Given the description of an element on the screen output the (x, y) to click on. 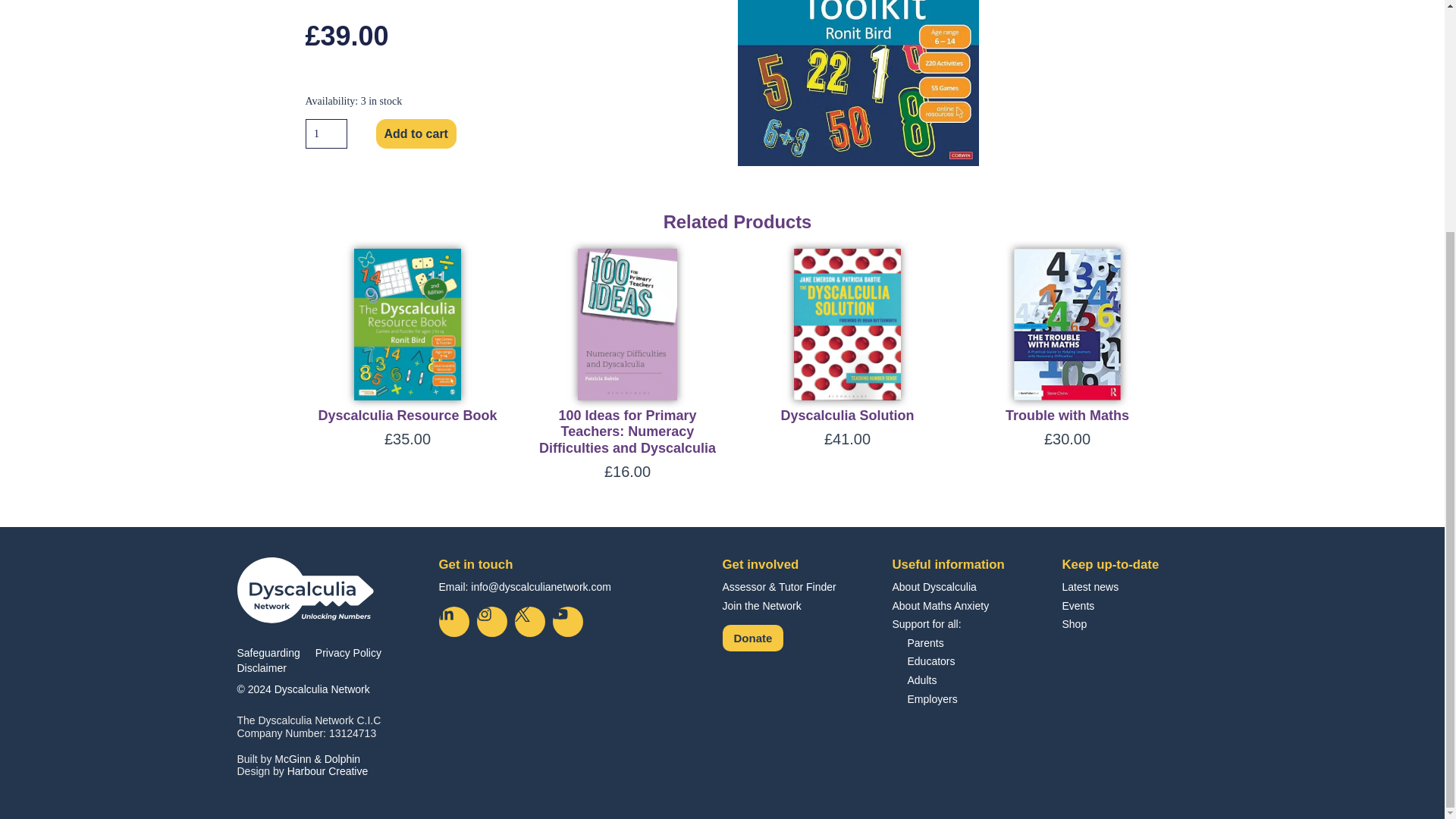
Dyscalculia Toolkit (857, 83)
1 (325, 133)
